Given the description of an element on the screen output the (x, y) to click on. 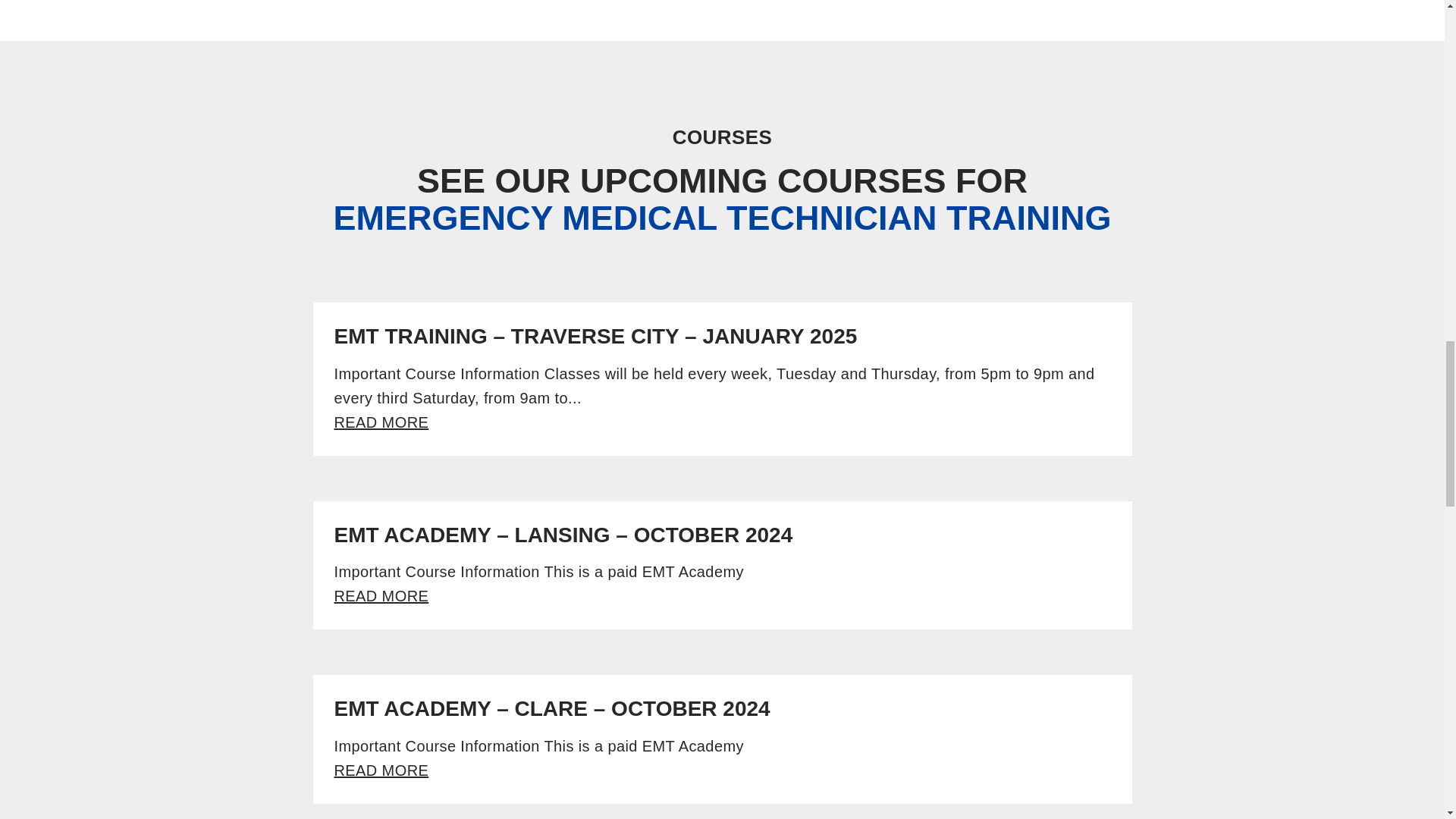
READ MORE (380, 770)
READ MORE (380, 422)
READ MORE (380, 596)
